Given the description of an element on the screen output the (x, y) to click on. 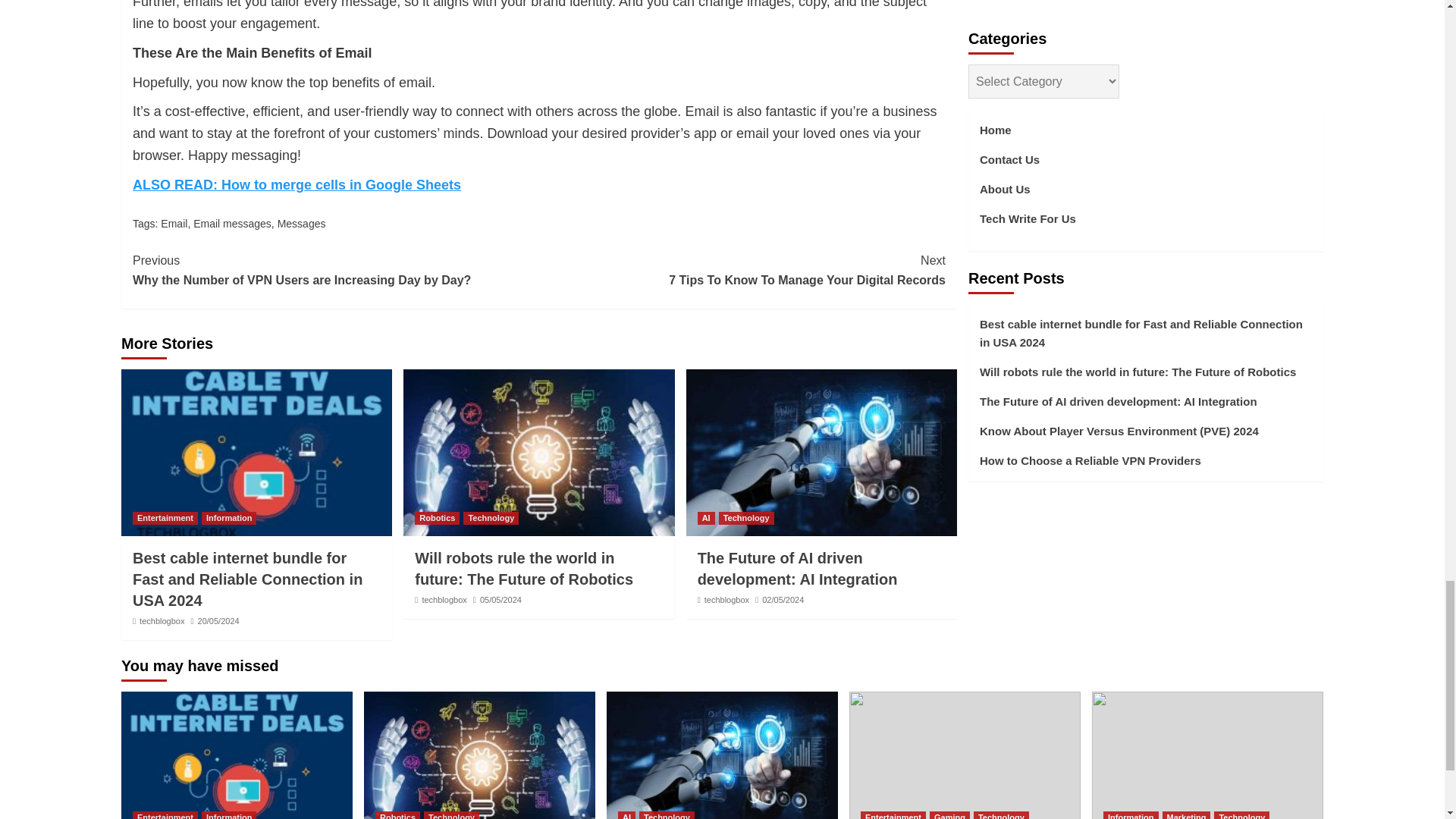
ALSO READ: How to merge cells in Google Sheets (741, 269)
Robotics (296, 184)
Email (437, 517)
Messages (173, 223)
Information (302, 223)
Email messages (229, 517)
Entertainment (231, 223)
techblogbox (165, 517)
Technology (161, 620)
